Given the description of an element on the screen output the (x, y) to click on. 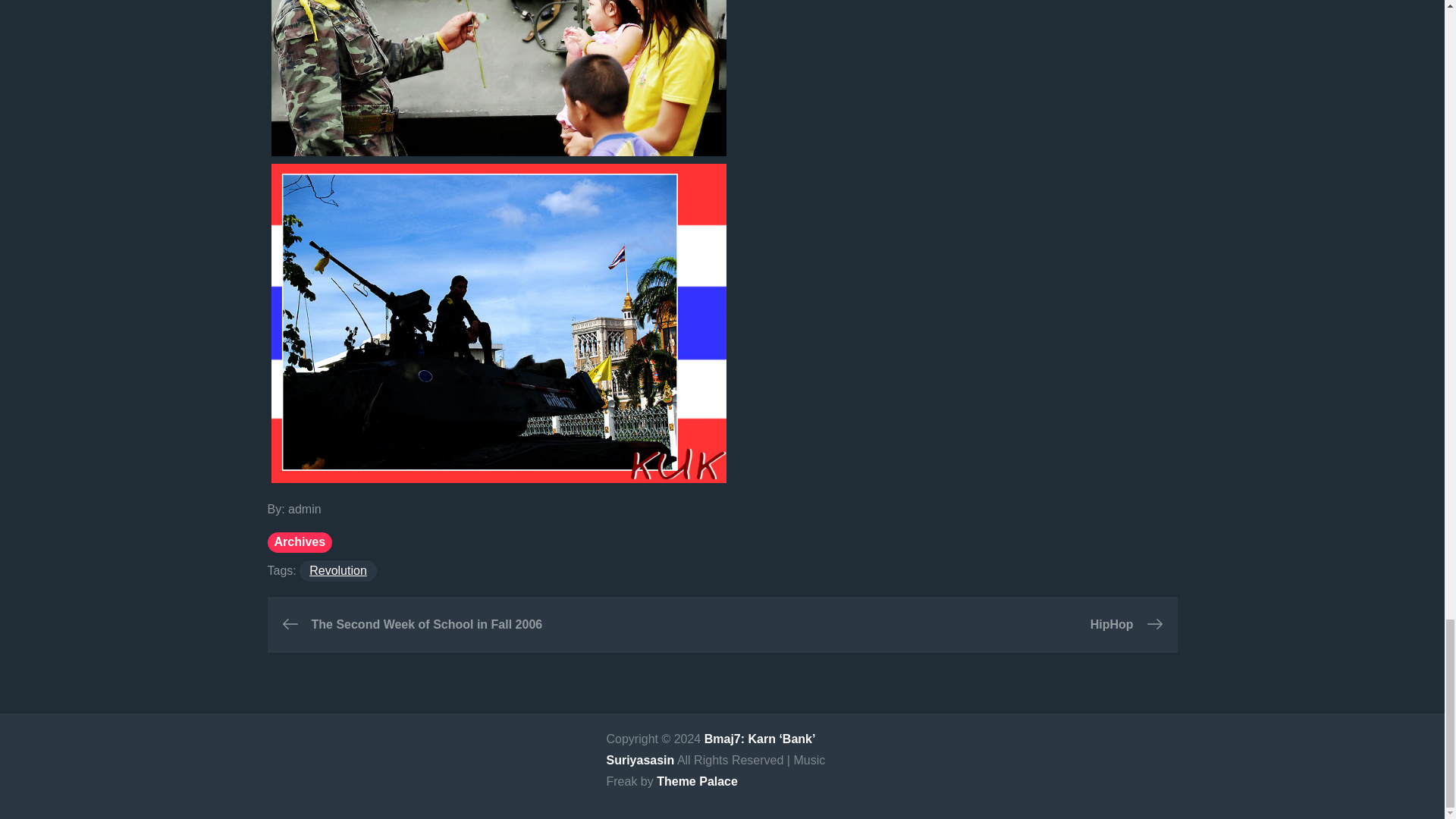
Theme Palace (697, 780)
admin (304, 508)
Revolution (338, 570)
Archives (298, 542)
